Given the description of an element on the screen output the (x, y) to click on. 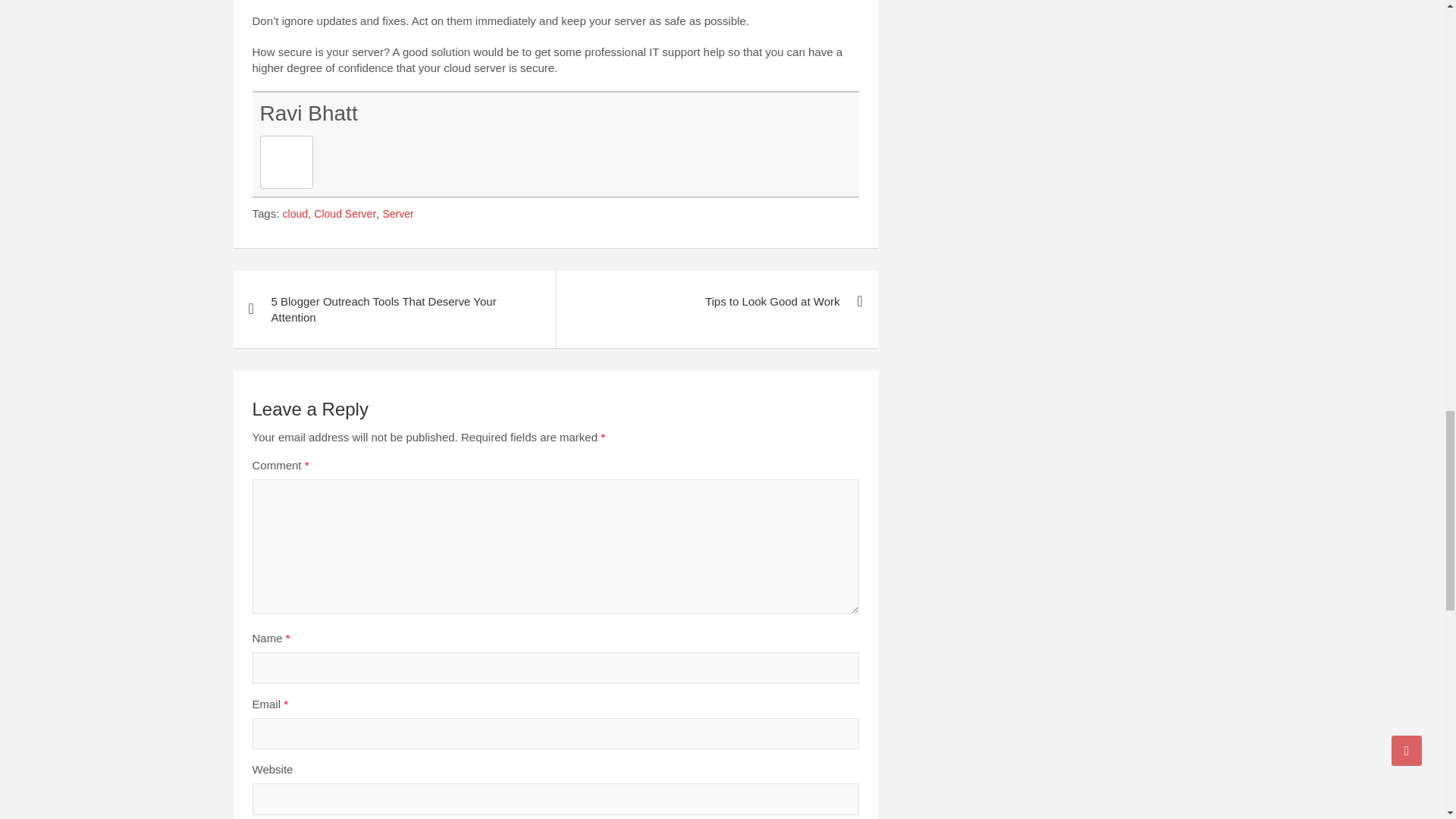
Ravi Bhatt (307, 113)
All posts by Ravi Bhatt (307, 113)
